Given the description of an element on the screen output the (x, y) to click on. 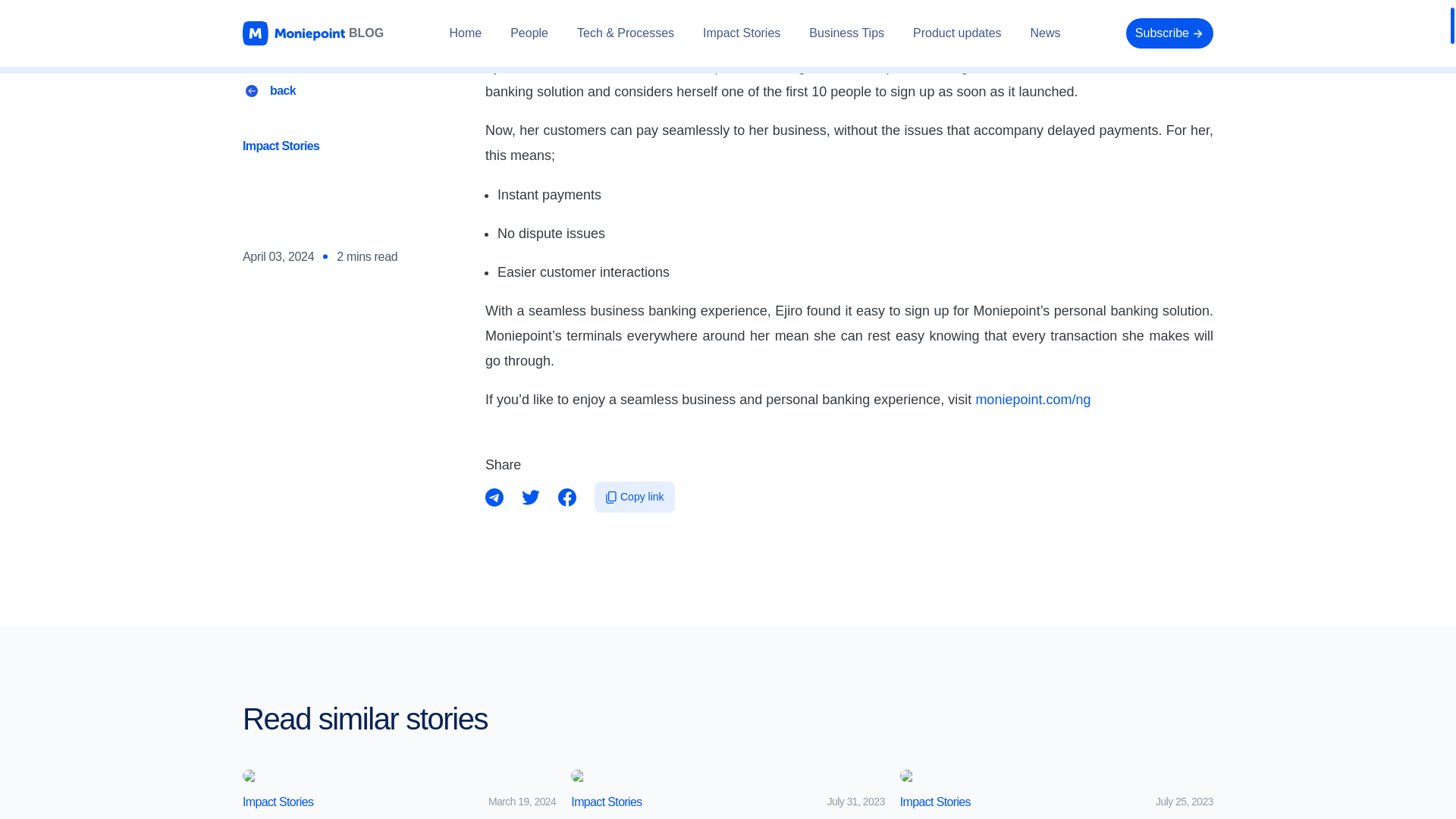
Copy link (634, 496)
